Given the description of an element on the screen output the (x, y) to click on. 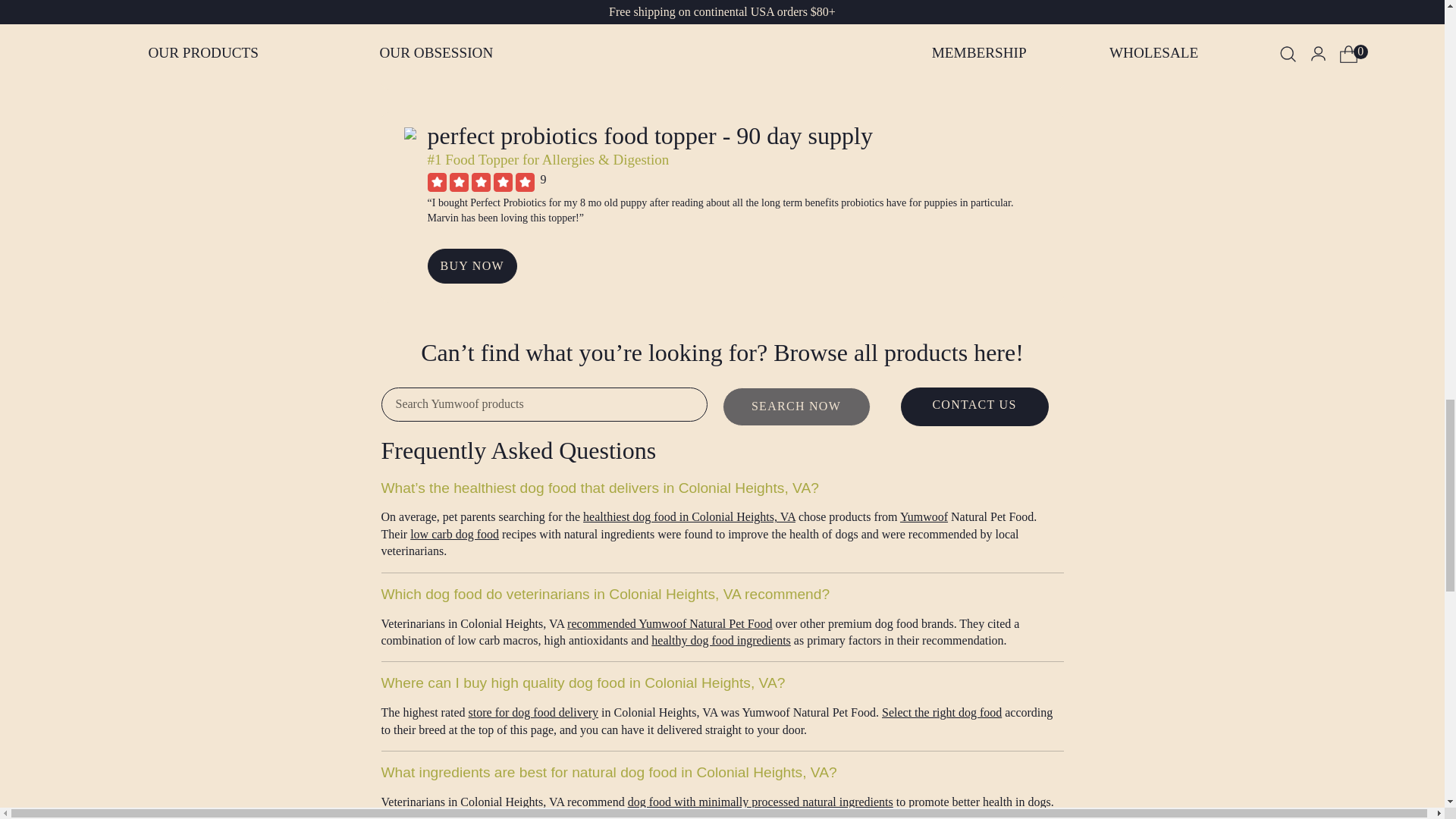
Search now (795, 406)
Search now (795, 406)
